Given the description of an element on the screen output the (x, y) to click on. 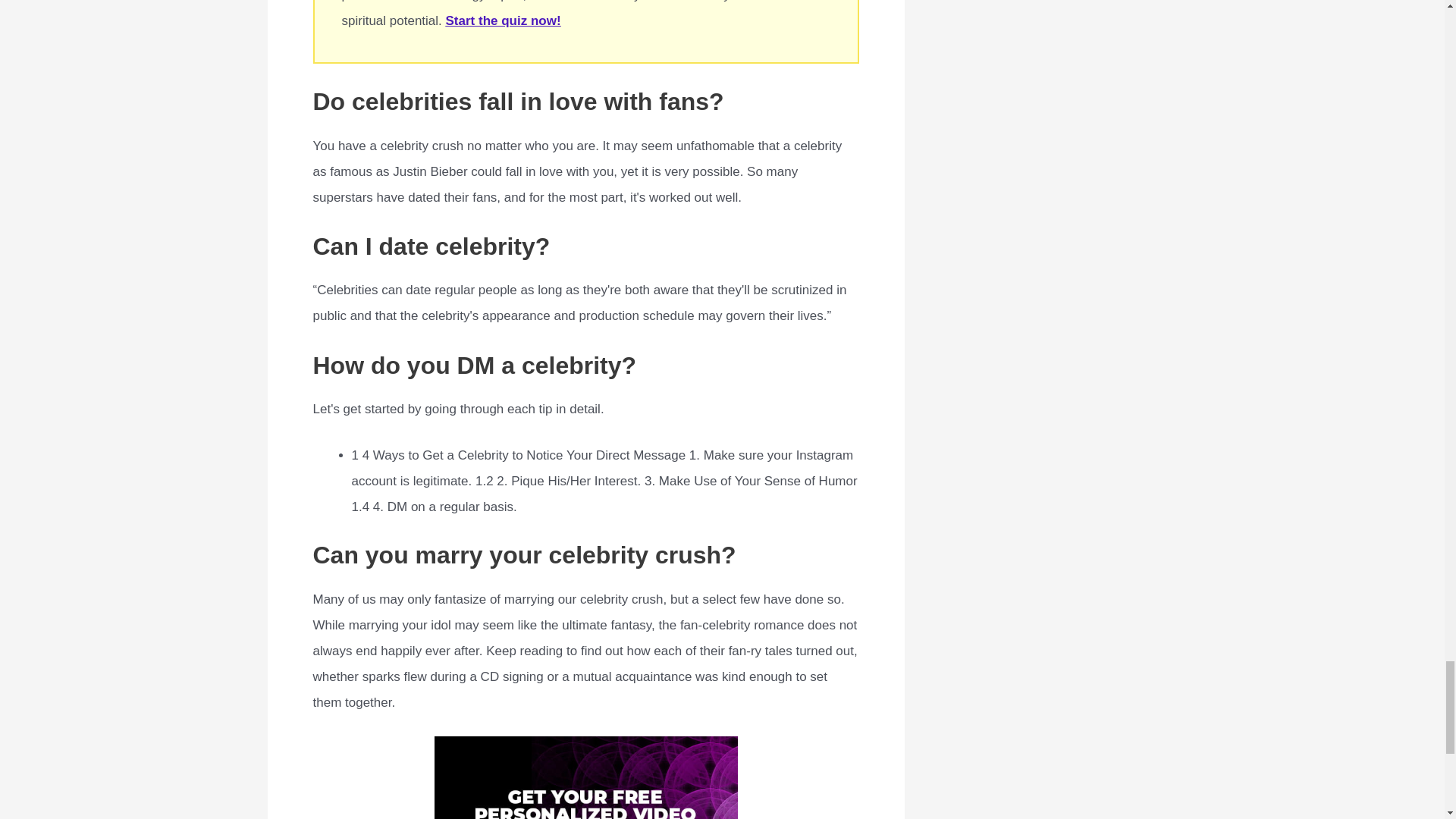
Start the quiz now! (502, 20)
